Given the description of an element on the screen output the (x, y) to click on. 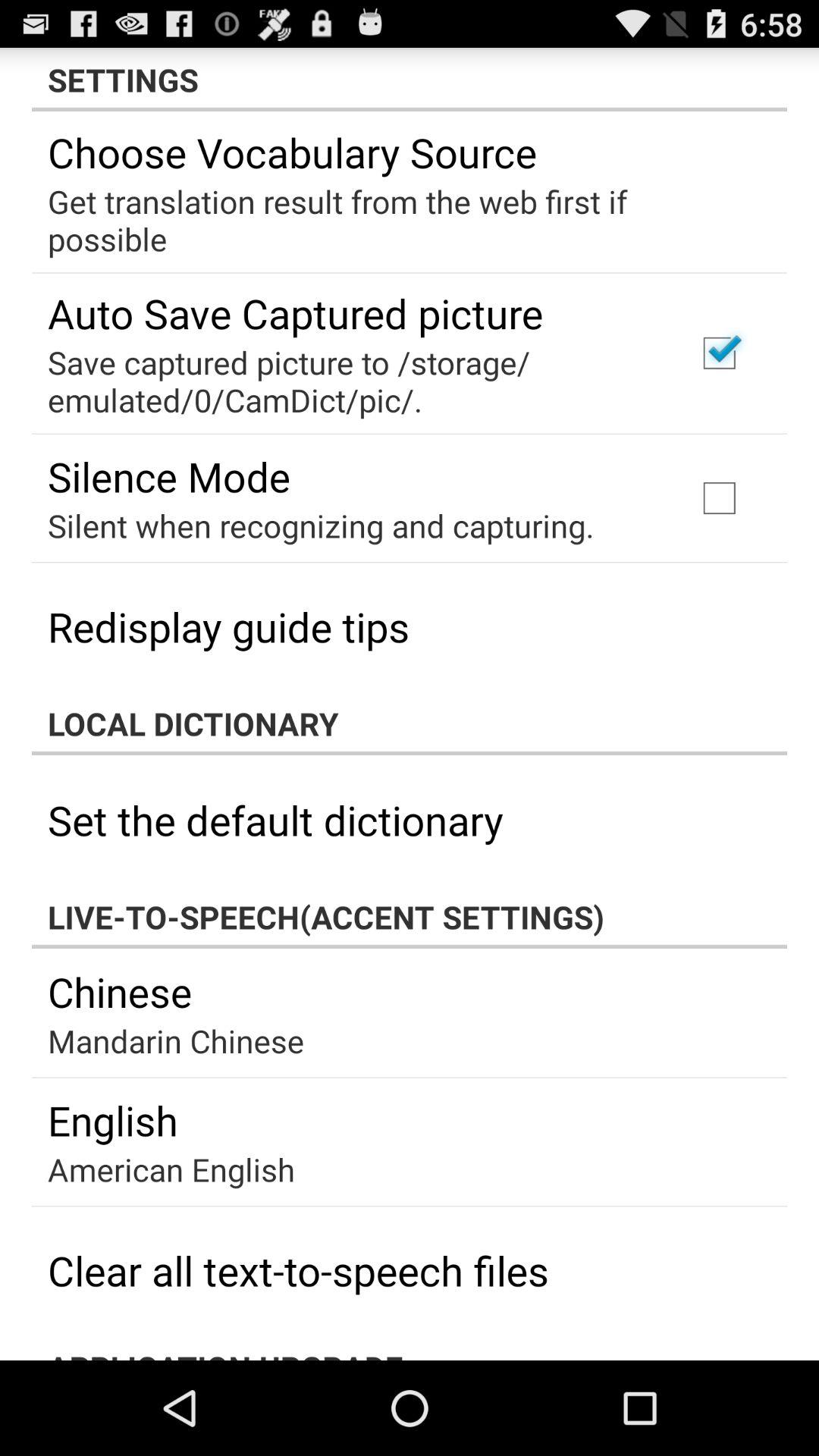
turn off the icon below silence mode icon (320, 525)
